Given the description of an element on the screen output the (x, y) to click on. 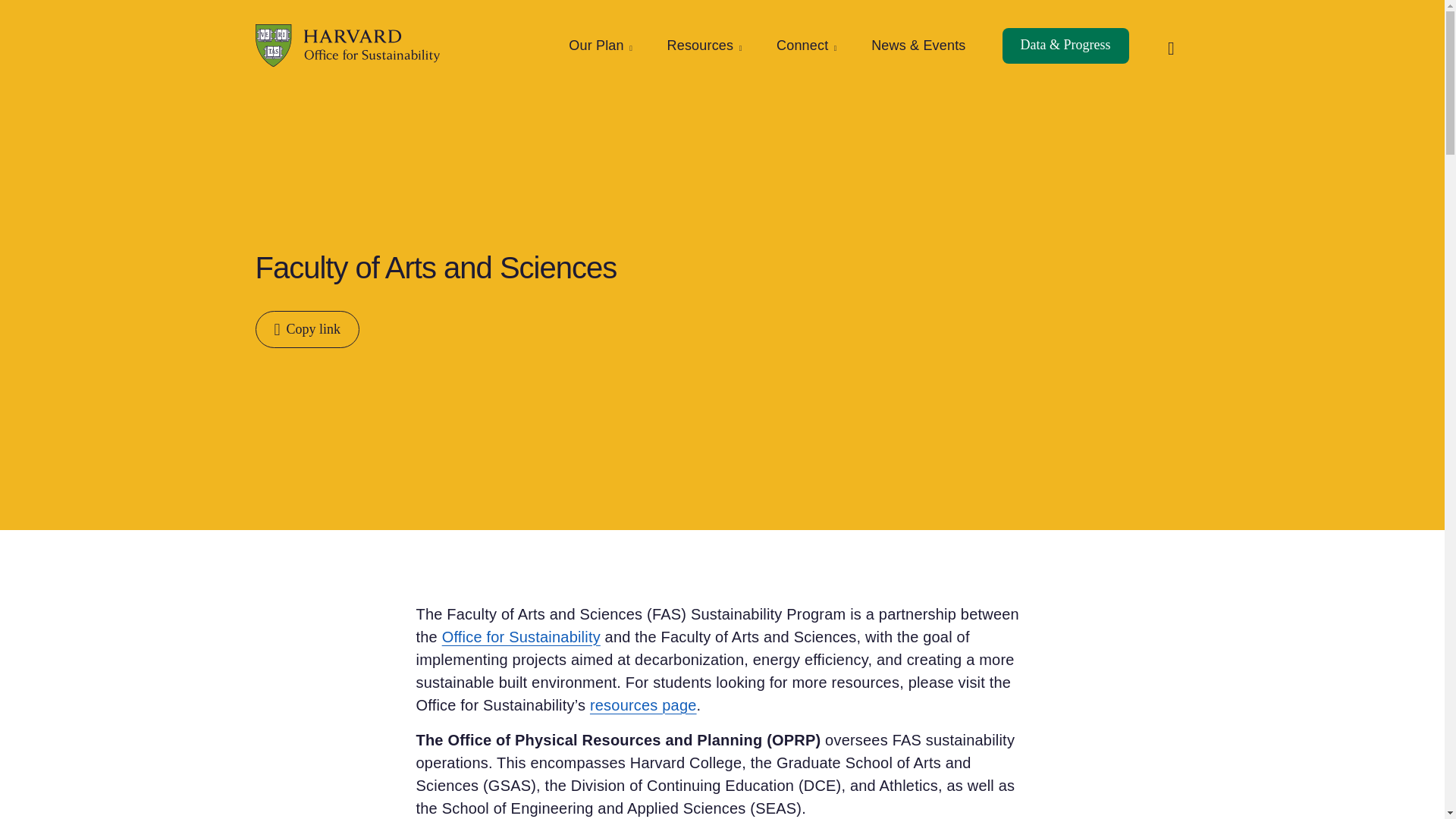
Harvard Office for Sustainability (346, 45)
Our Plan (599, 46)
Connect (805, 46)
Toggle Sub-Menu (599, 46)
Toggle Sub-Menu (702, 46)
Toggle Sub-Menu (805, 46)
Resources (702, 46)
